Given the description of an element on the screen output the (x, y) to click on. 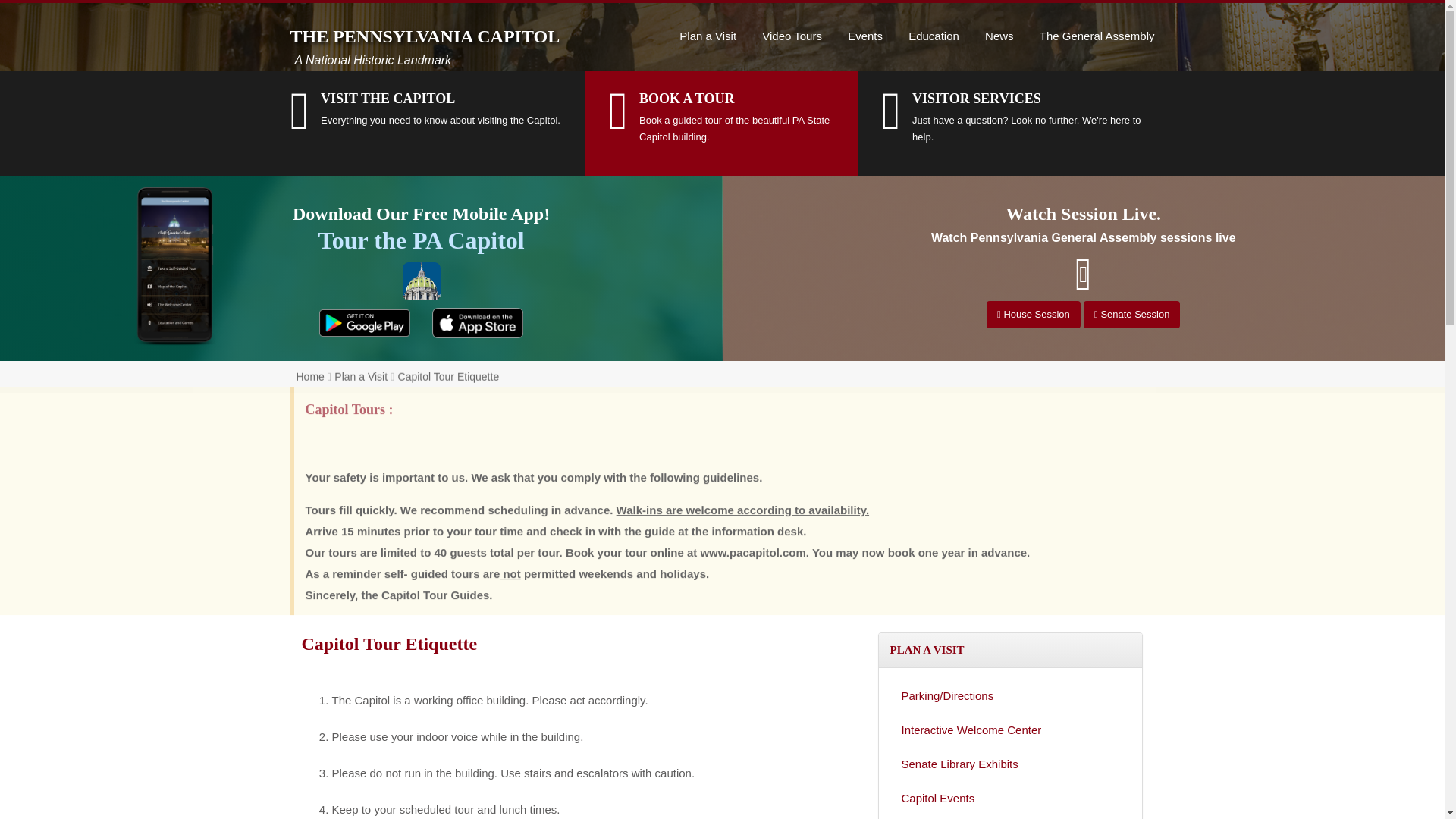
The General Assembly (1096, 25)
Video Tours (791, 21)
Plan a Visit (707, 21)
Events (864, 21)
News (999, 23)
THE PENNSYLVANIA CAPITOL (425, 18)
Education (933, 23)
